Given the description of an element on the screen output the (x, y) to click on. 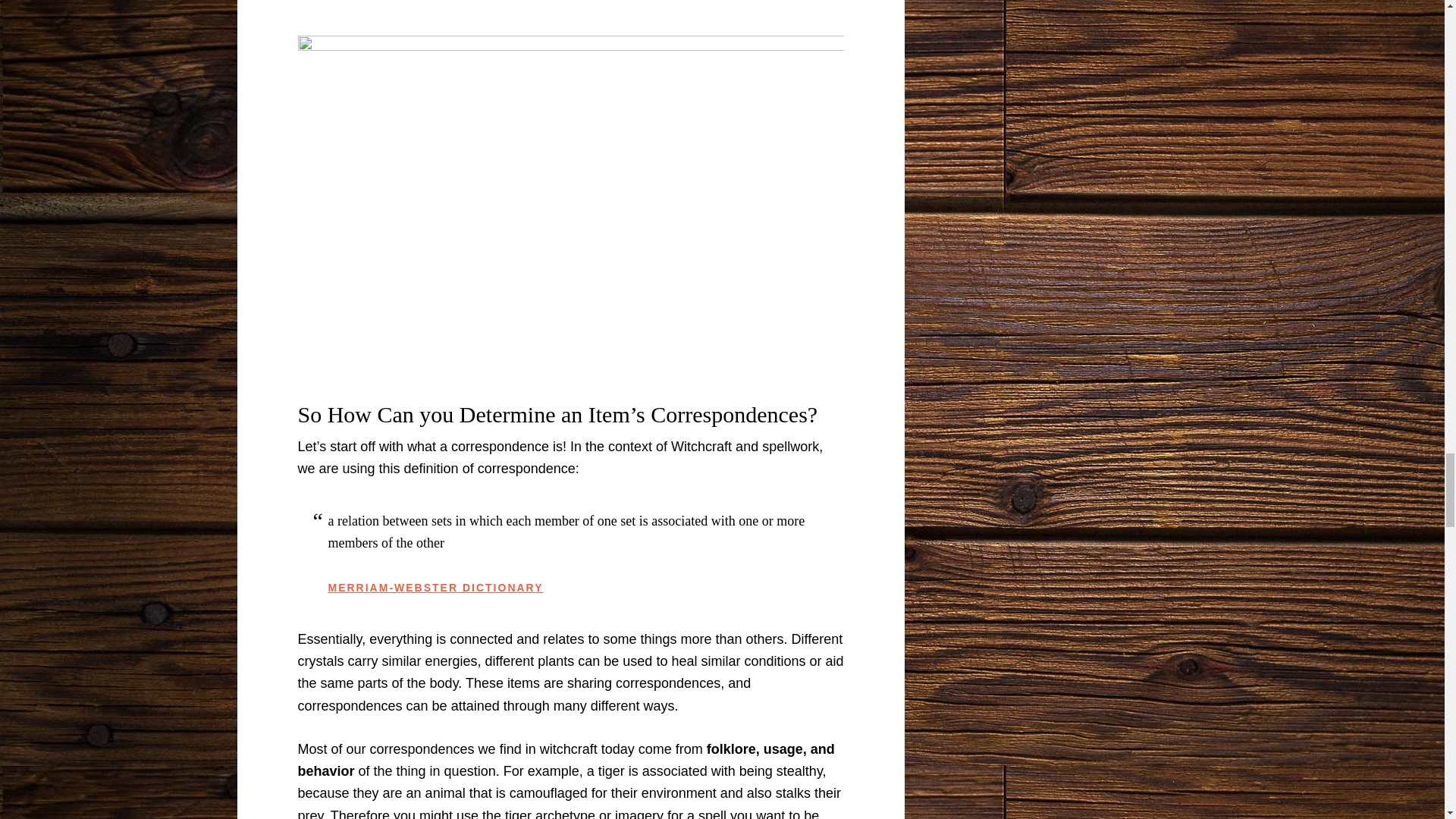
MERRIAM-WEBSTER DICTIONARY (435, 587)
